Given the description of an element on the screen output the (x, y) to click on. 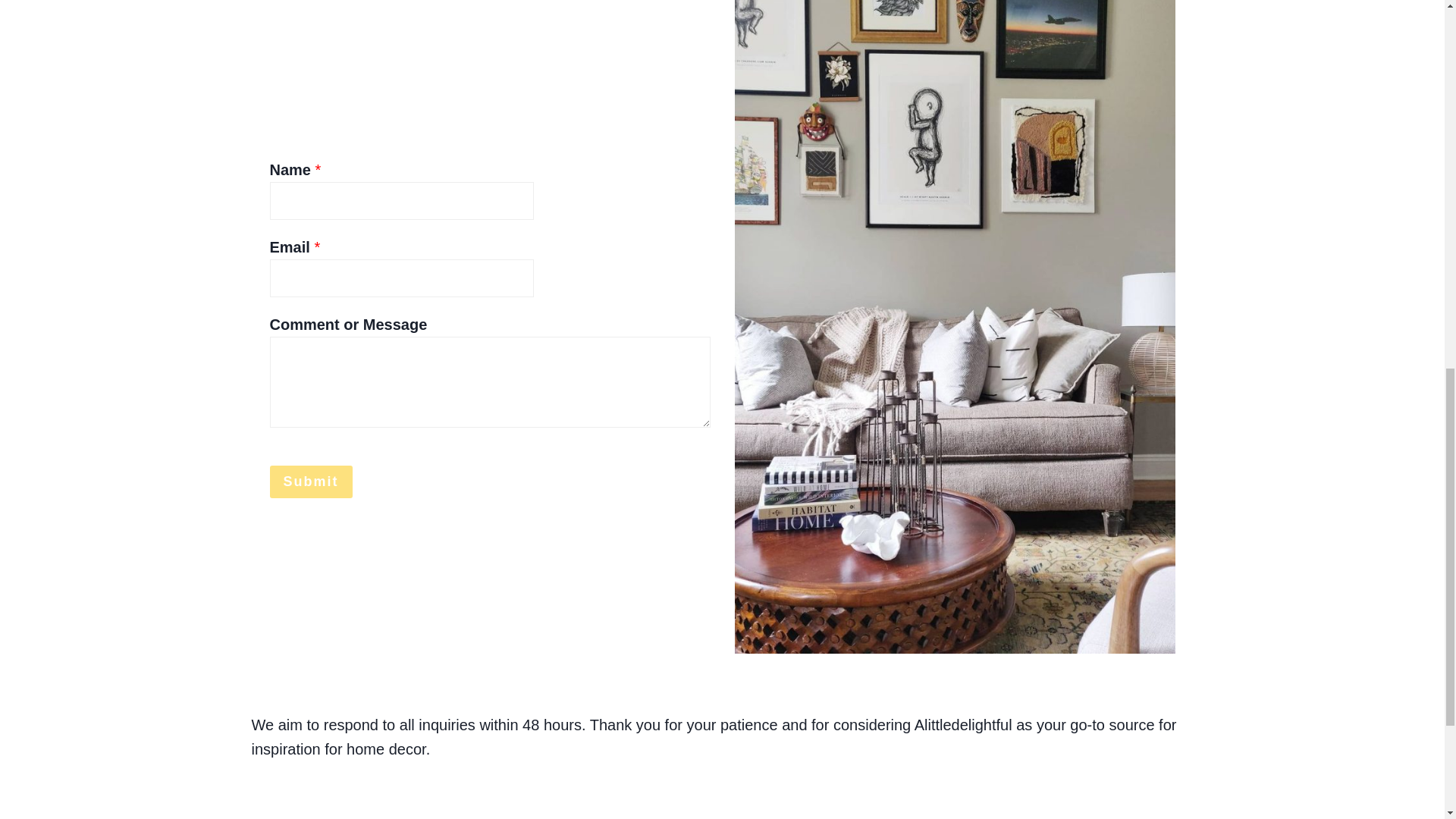
Submit (310, 481)
